Given the description of an element on the screen output the (x, y) to click on. 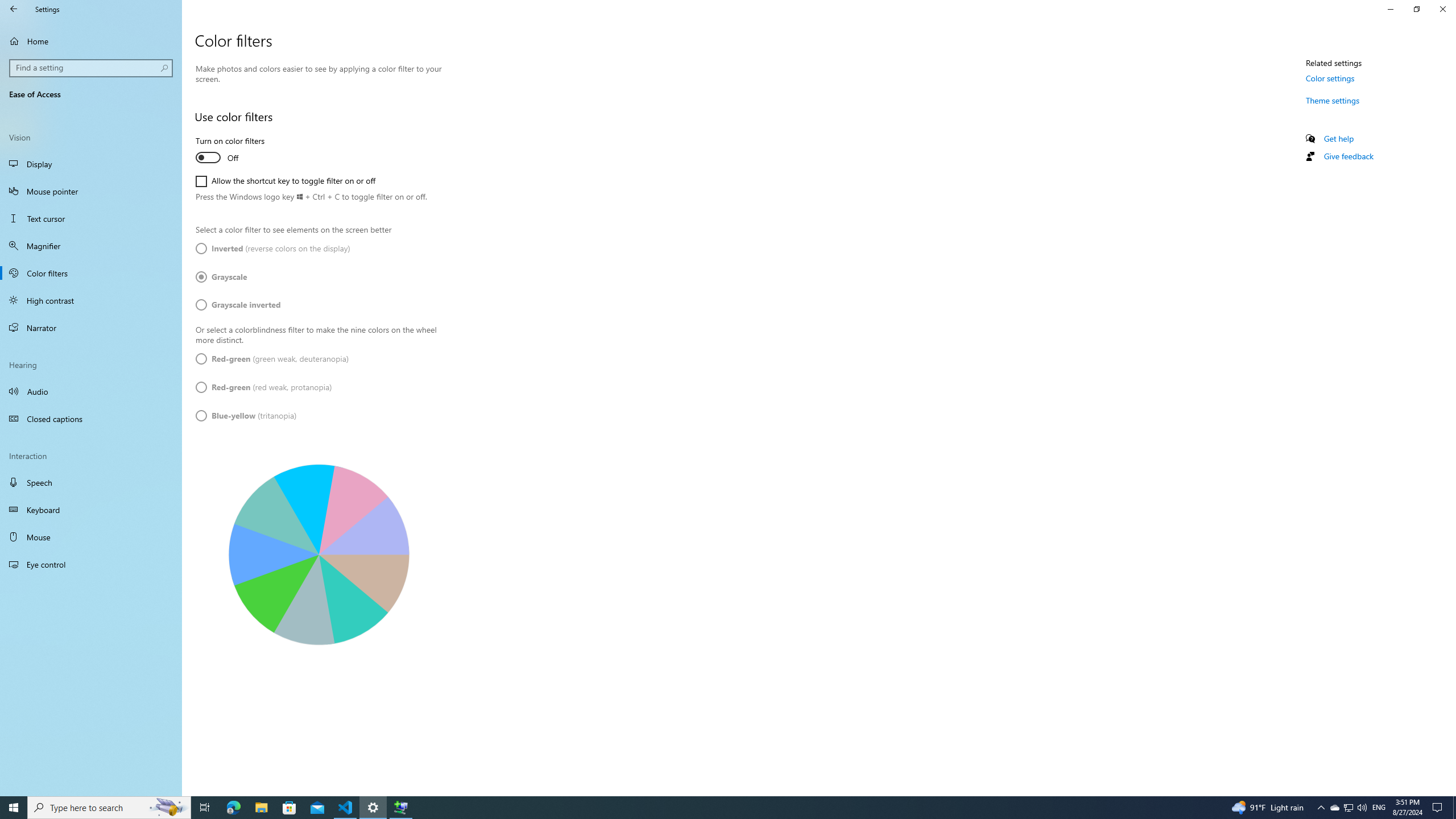
Back (13, 9)
Turn on color filters (237, 150)
Get help (1338, 138)
Keyboard (91, 509)
Mouse (91, 536)
Give feedback (1348, 155)
Inverted (reverse colors on the display) (272, 248)
Close Settings (1442, 9)
Magnifier (91, 245)
Display (91, 163)
High contrast (91, 299)
